Given the description of an element on the screen output the (x, y) to click on. 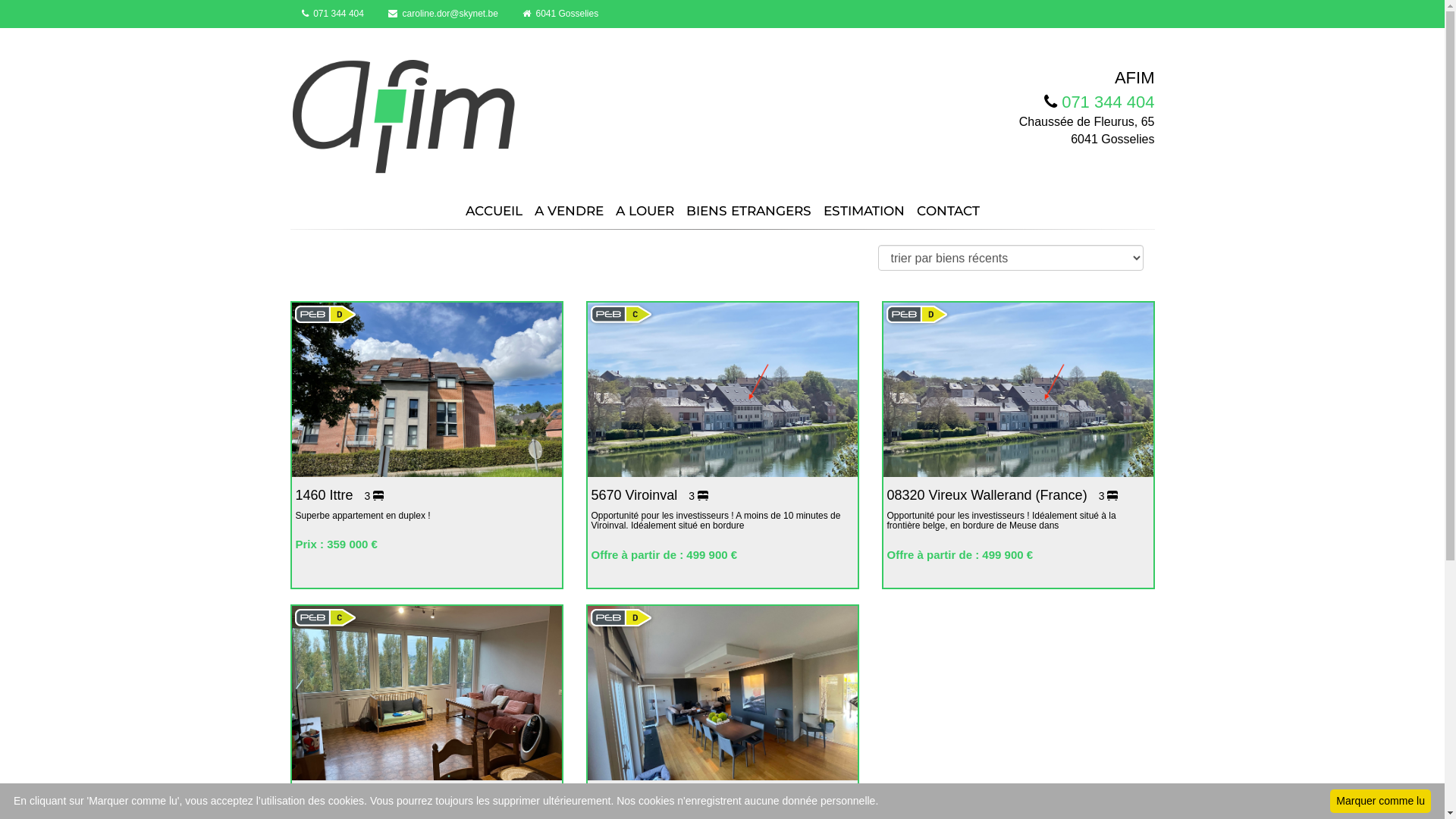
ACCUEIL Element type: text (493, 206)
BIENS ETRANGERS Element type: text (747, 206)
 6041 Gosselies Element type: text (560, 14)
 caroline.dor@skynet.be Element type: text (442, 14)
A VENDRE Element type: text (567, 206)
ESTIMATION Element type: text (863, 206)
CONTACT Element type: text (947, 206)
 071 344 404 Element type: text (331, 14)
A LOUER Element type: text (644, 206)
